Given the description of an element on the screen output the (x, y) to click on. 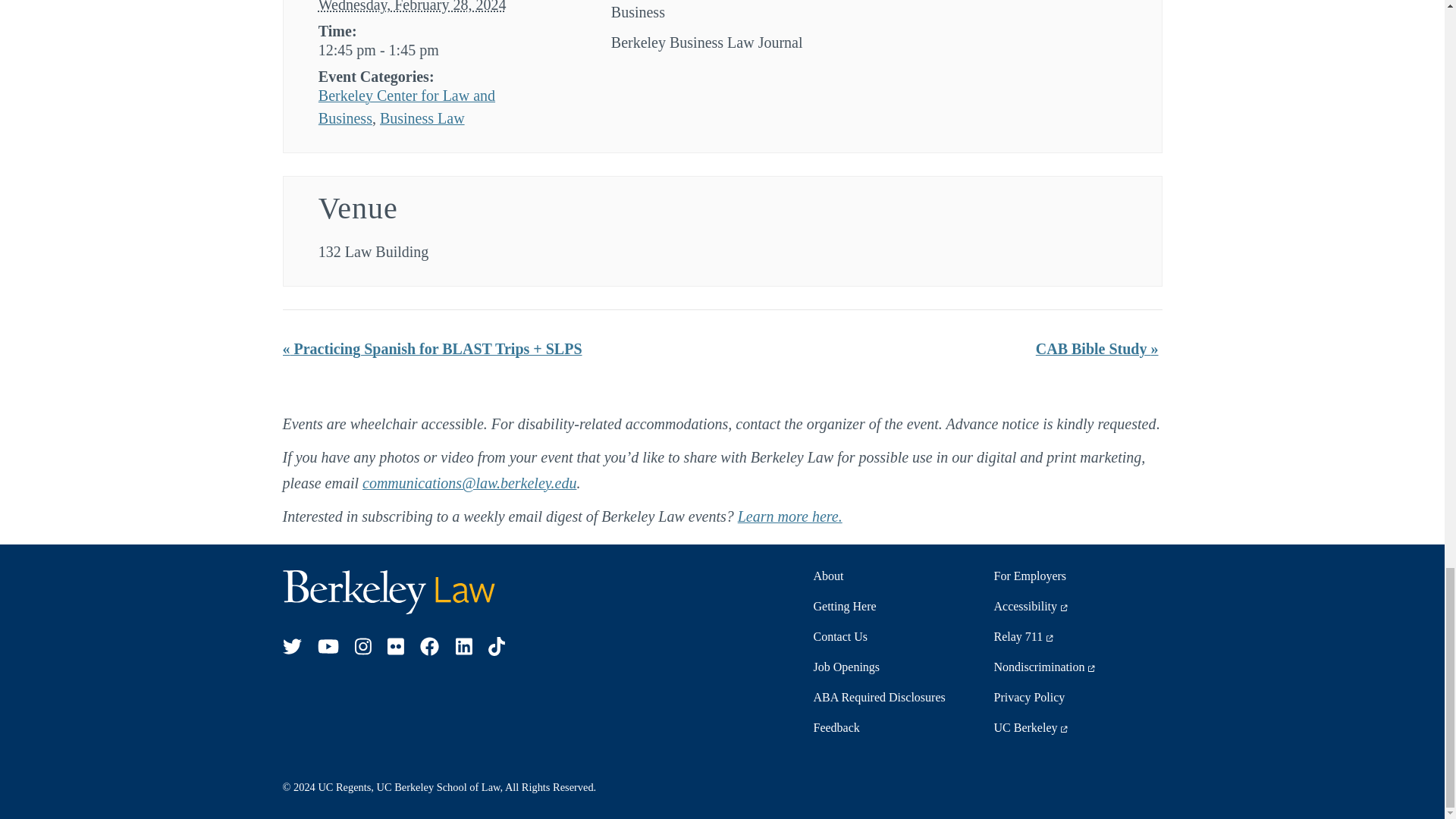
2024-02-28 (429, 49)
2024-02-28 (412, 6)
